Given the description of an element on the screen output the (x, y) to click on. 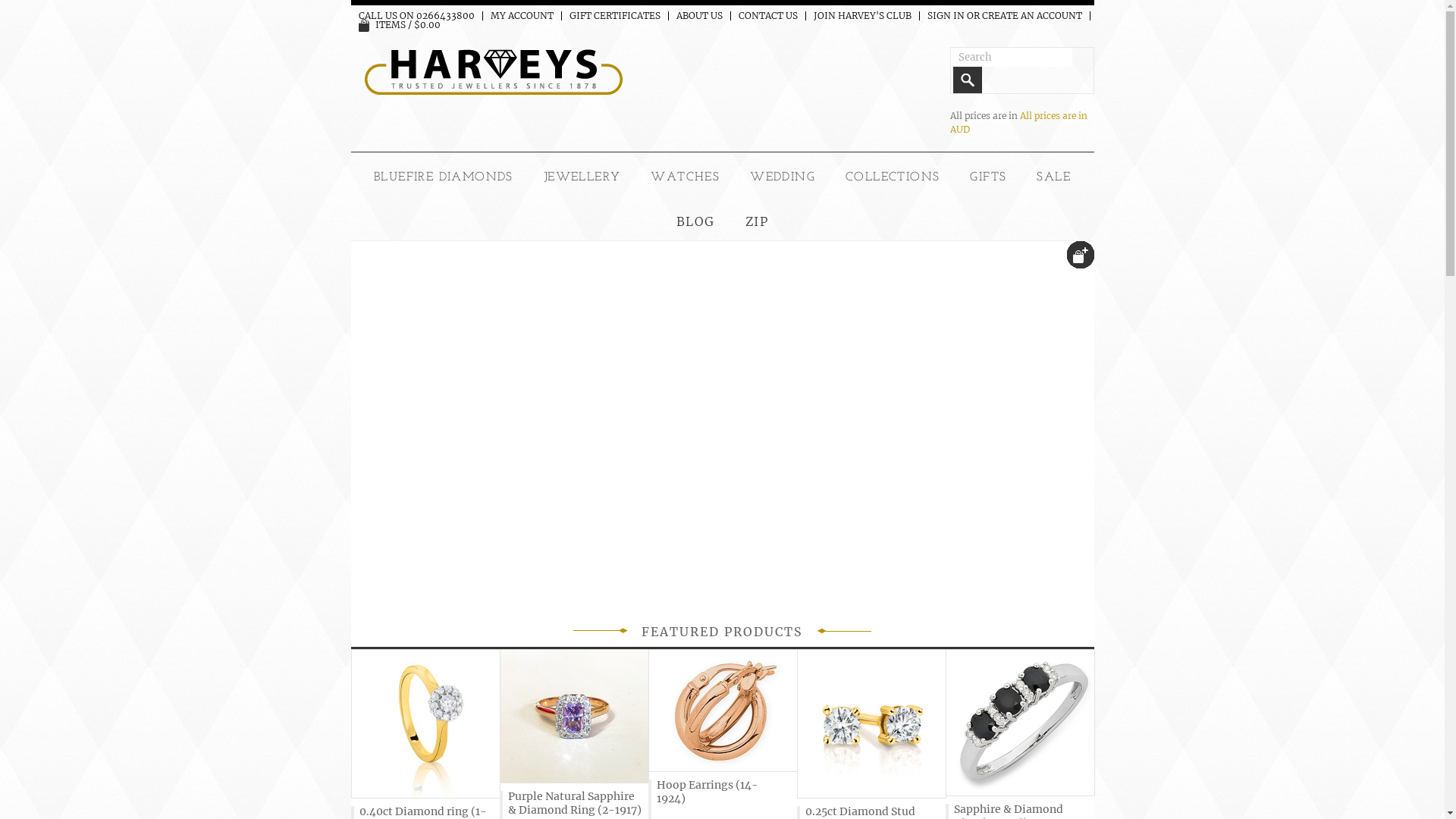
JOIN HARVEY'S CLUB Element type: text (861, 15)
CONTACT US Element type: text (767, 15)
GIFT CERTIFICATES Element type: text (613, 15)
ZIP Element type: text (756, 221)
 ITEMS / $0.00 Element type: text (398, 24)
  Element type: text (1079, 254)
COLLECTIONS Element type: text (892, 177)
SIGN IN Element type: text (944, 15)
All prices are in AUD Element type: text (1017, 121)
BLOG Element type: text (695, 221)
CREATE AN ACCOUNT Element type: text (1031, 15)
WATCHES Element type: text (685, 177)
BLUEFIRE DIAMONDS Element type: text (443, 177)
Search Element type: hover (966, 79)
View Cart Element type: hover (363, 25)
Add To Cart Element type: hover (1079, 254)
MY ACCOUNT Element type: text (520, 15)
JEWELLERY Element type: text (582, 177)
ABOUT US Element type: text (699, 15)
WEDDING Element type: text (782, 177)
SALE Element type: text (1053, 177)
GIFTS Element type: text (987, 177)
